Given the description of an element on the screen output the (x, y) to click on. 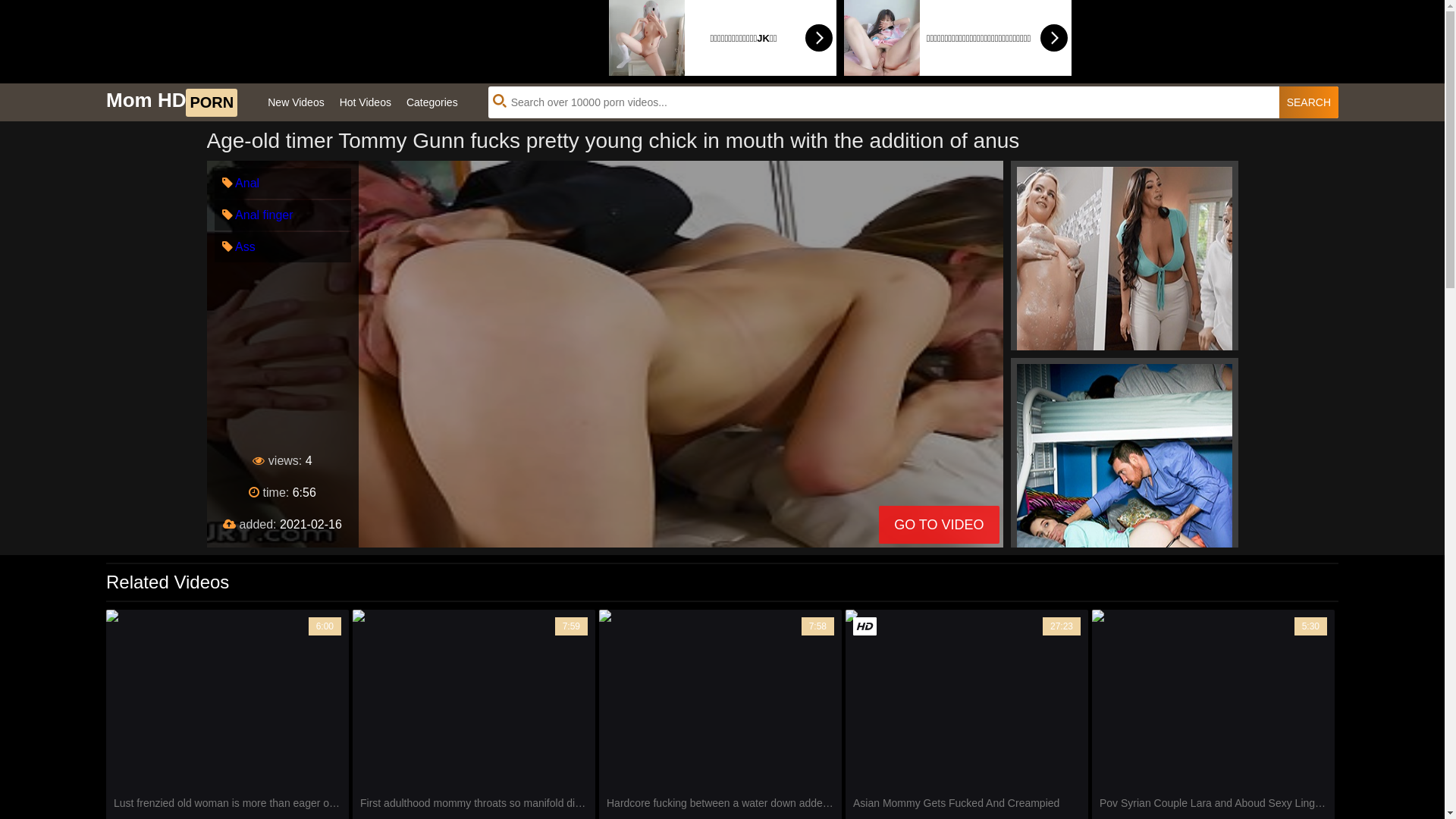
New Videos Element type: text (295, 102)
Anal Element type: text (240, 182)
Ass Element type: text (237, 246)
Anal finger Element type: text (256, 214)
Mom HD PORN Element type: text (171, 101)
SEARCH Element type: text (1308, 102)
Categories Element type: text (432, 102)
Hot Videos Element type: text (365, 102)
